Given the description of an element on the screen output the (x, y) to click on. 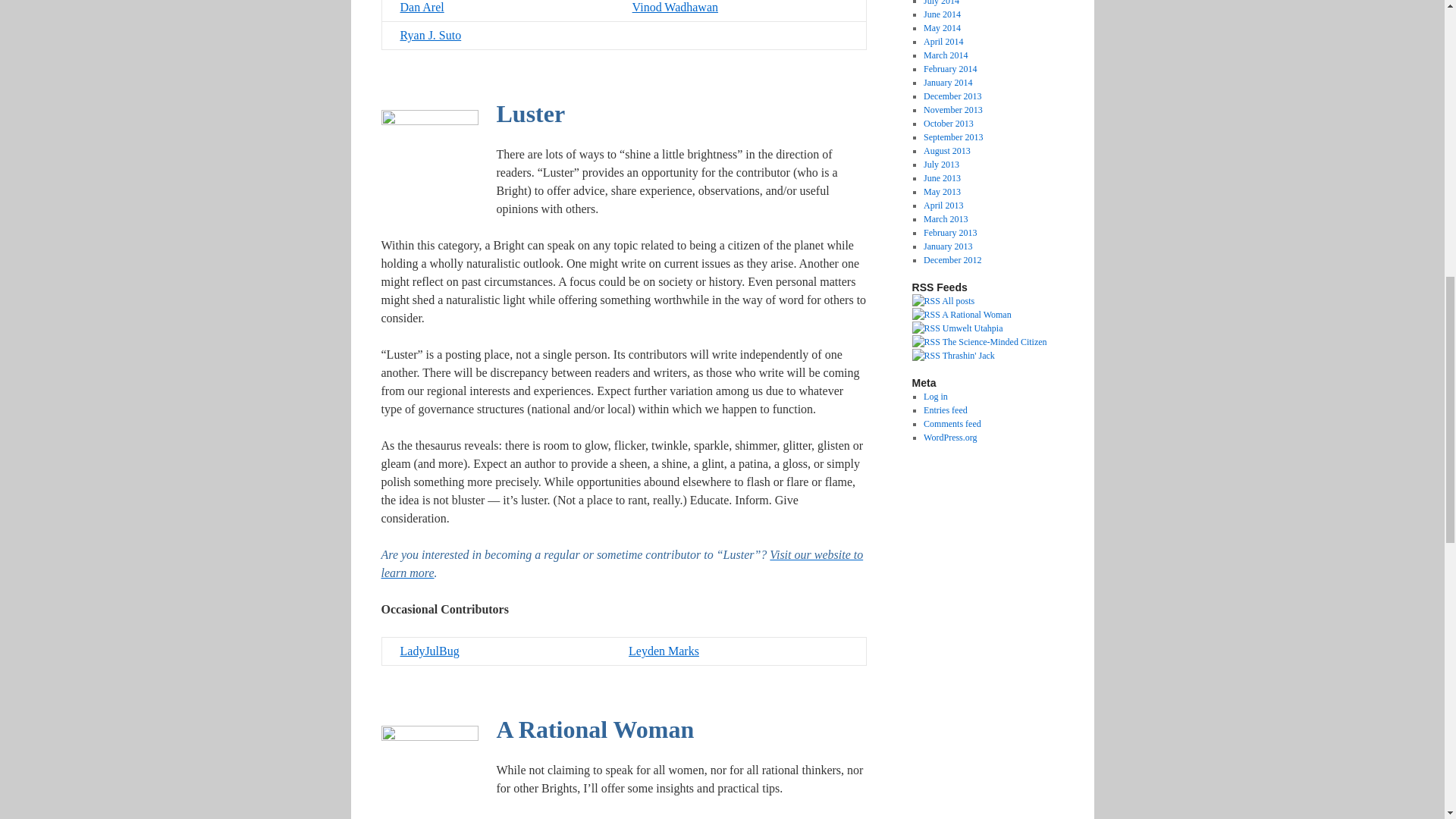
Ryan J. Suto (430, 34)
Interested in Blogging? (621, 563)
View posts by this author (530, 117)
SusanAvatar (428, 771)
LusterAvatar (428, 155)
LadyJulBug (430, 650)
Leyden Marks (663, 650)
Visit our website to learn more (621, 563)
Syndicate this content (960, 314)
Luster (530, 117)
